Given the description of an element on the screen output the (x, y) to click on. 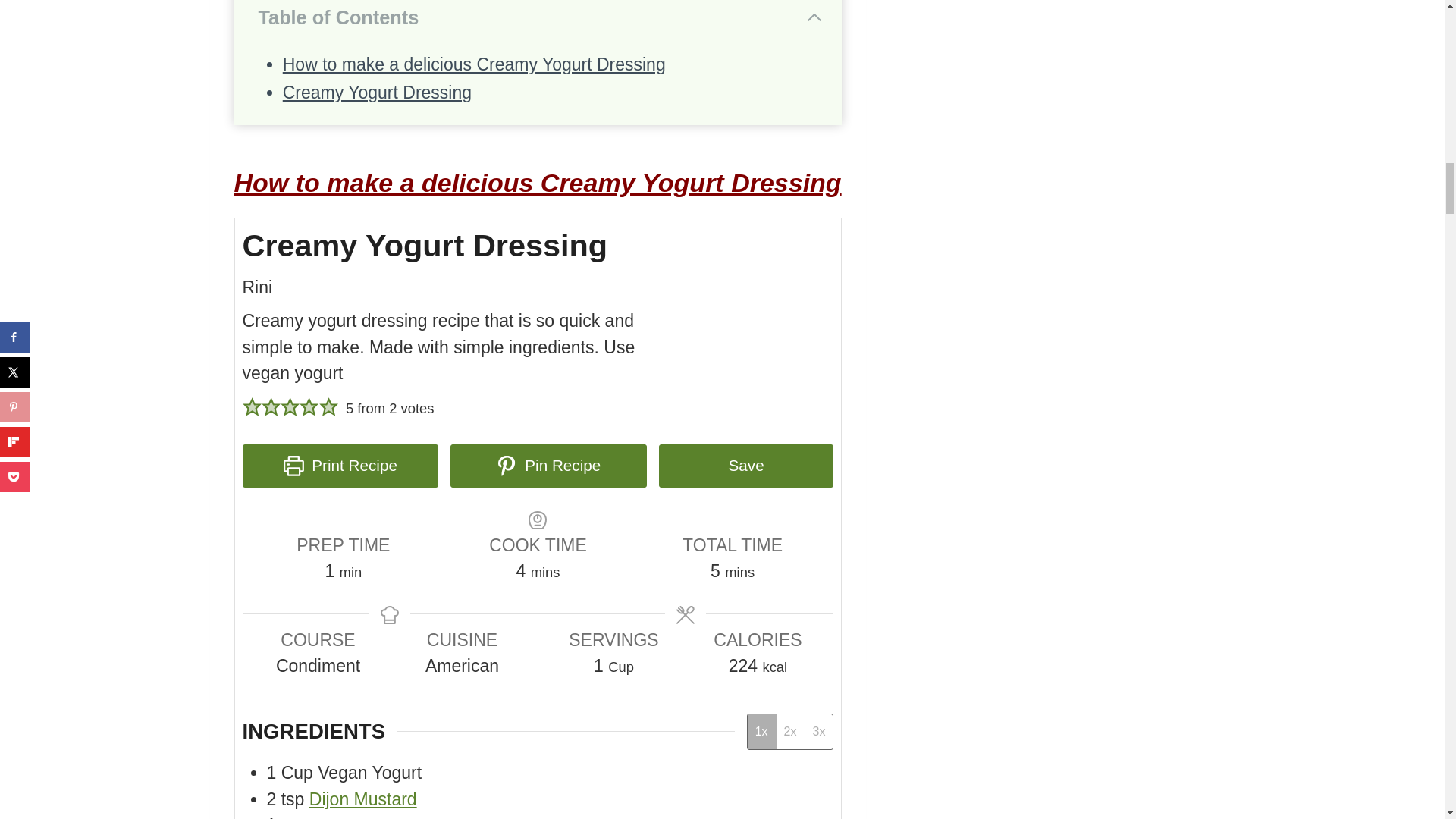
How to make a delicious Creamy Yogurt Dressing (473, 64)
Creamy Yogurt Dressing (376, 92)
Print Recipe (341, 465)
Table of Contents (540, 17)
